Given the description of an element on the screen output the (x, y) to click on. 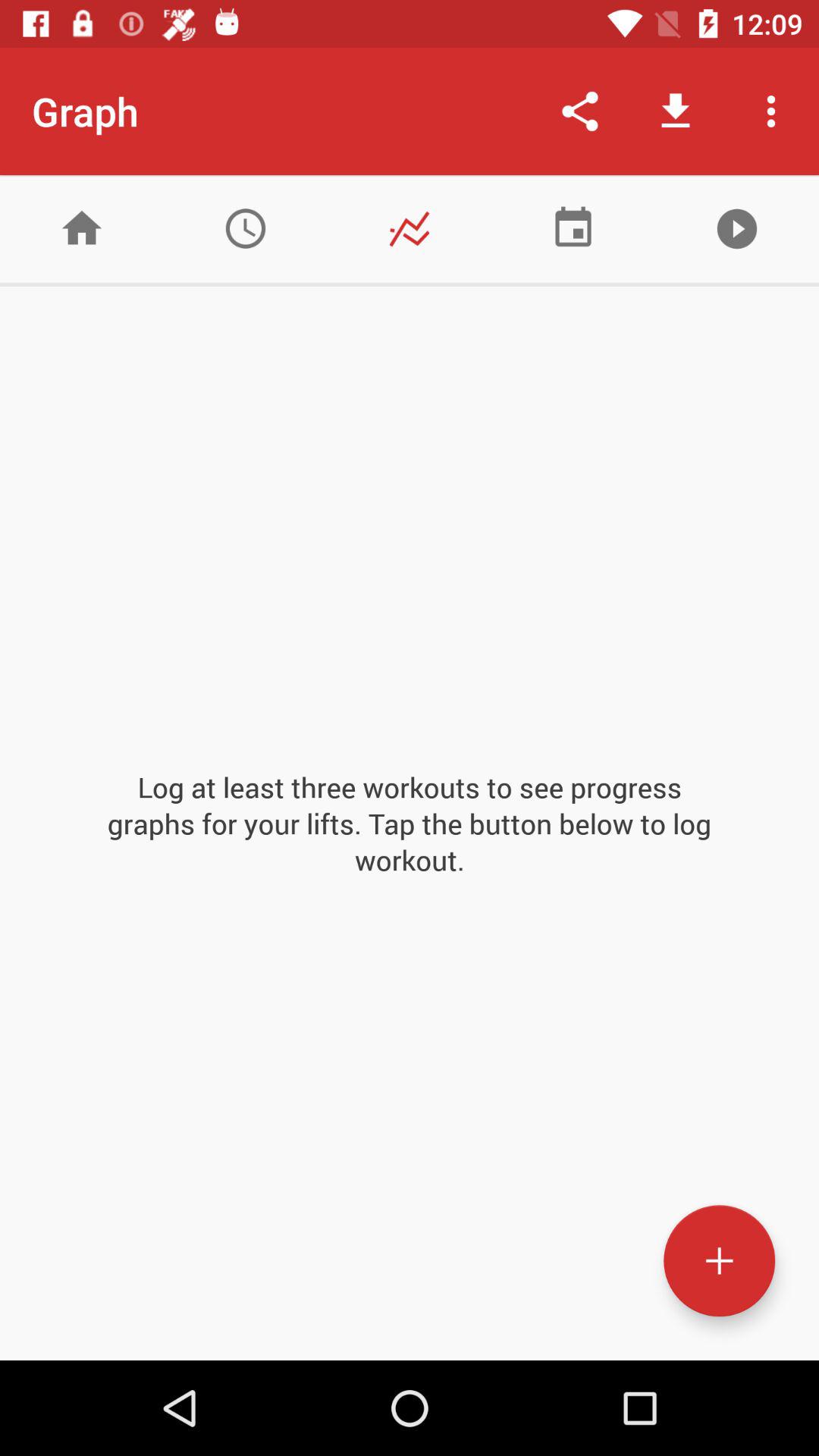
new (719, 1260)
